Given the description of an element on the screen output the (x, y) to click on. 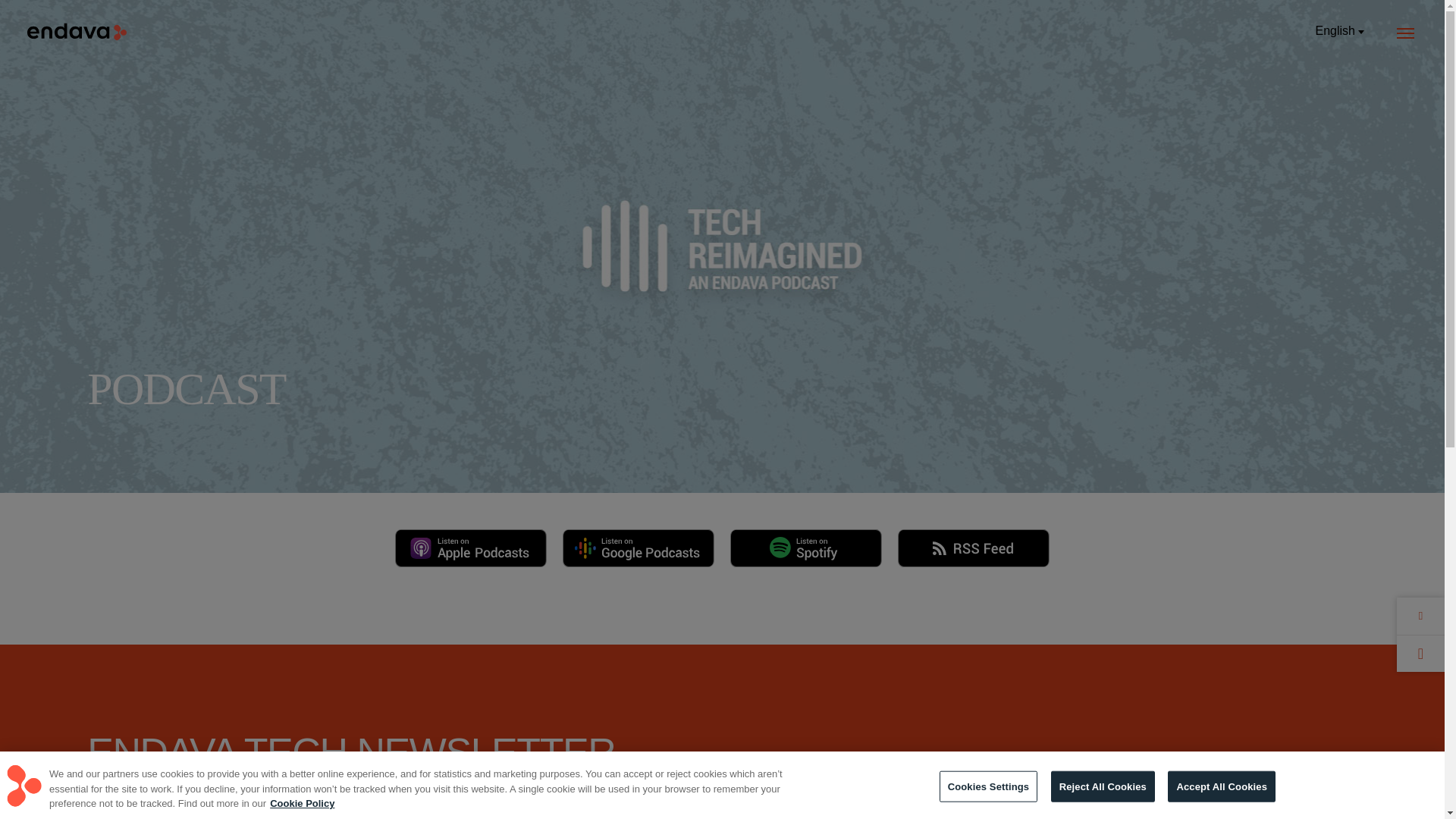
Endava News (1128, 795)
Cookie Policy (301, 803)
unsubscribe (507, 811)
Company Logo (24, 785)
